Given the description of an element on the screen output the (x, y) to click on. 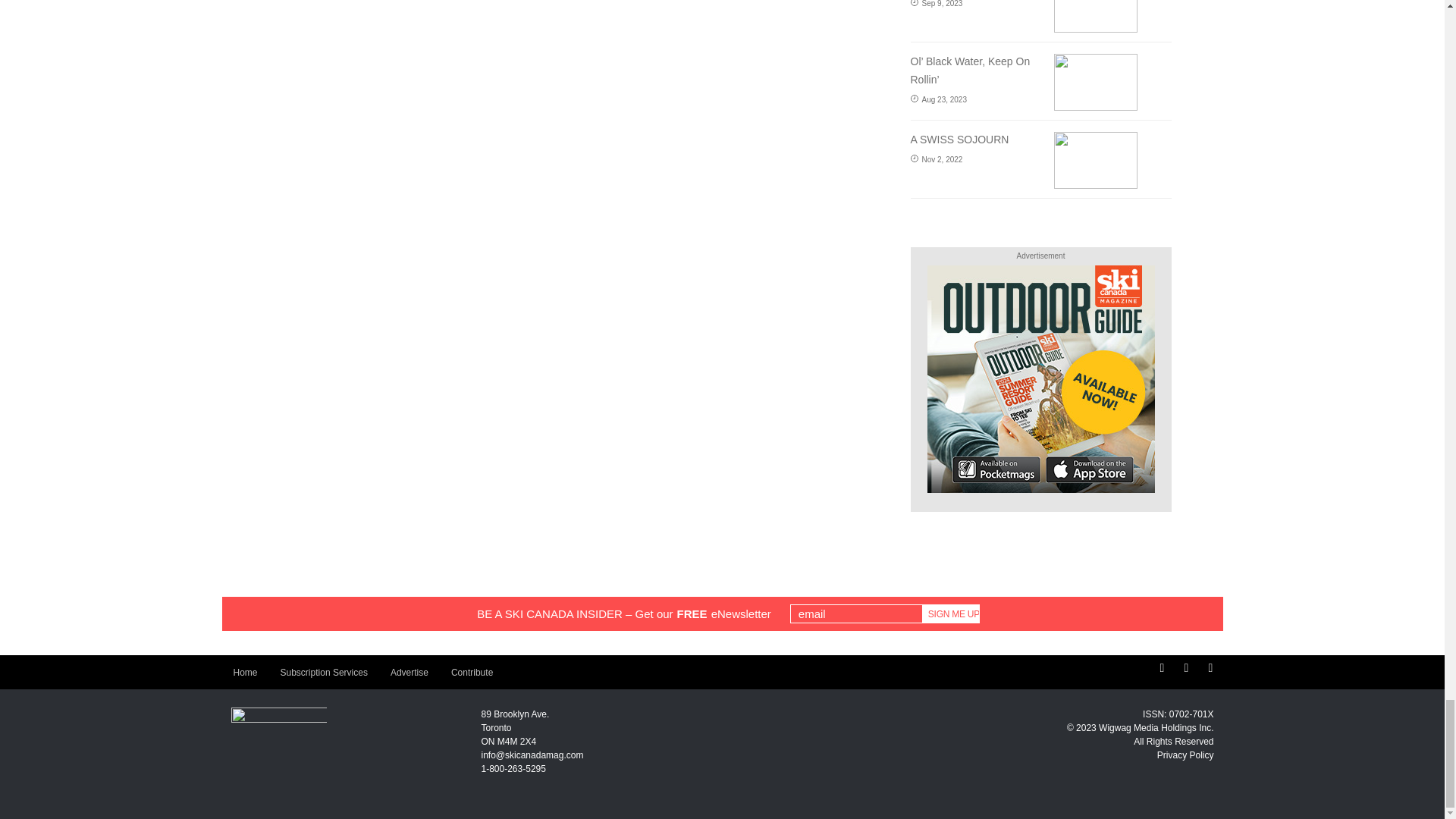
SIGN ME UP (951, 613)
